Given the description of an element on the screen output the (x, y) to click on. 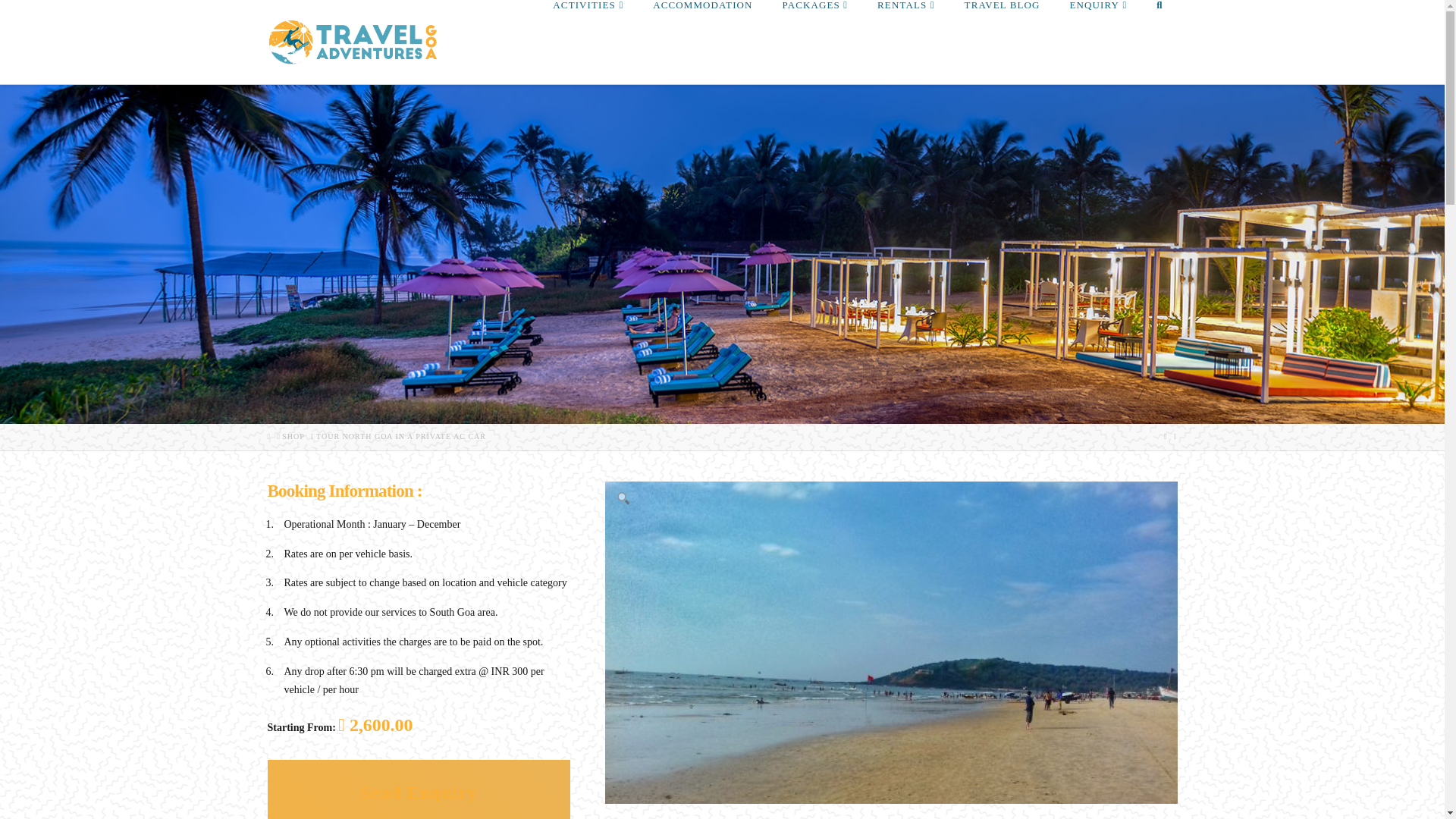
You Are Here (400, 436)
SHOP (293, 436)
ENQUIRY (1097, 33)
RENTALS (905, 33)
PACKAGES (815, 33)
ACTIVITIES (587, 33)
TRAVEL BLOG (1001, 33)
TOUR NORTH GOA IN A PRIVATE AC CAR (400, 436)
ACCOMMODATION (702, 33)
